Given the description of an element on the screen output the (x, y) to click on. 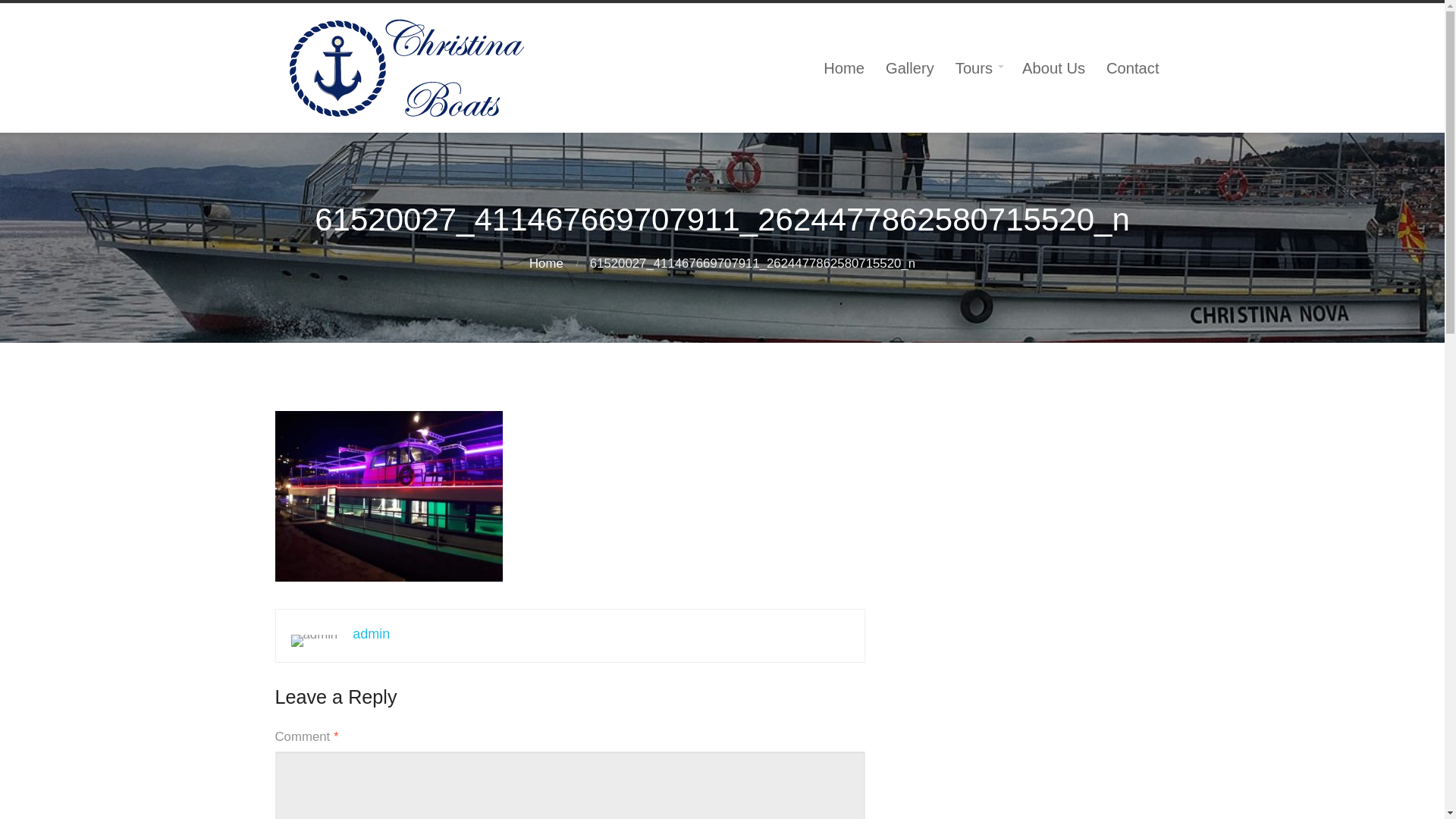
About Us (1053, 67)
admin (371, 633)
Tours (977, 67)
Gallery (909, 67)
Contact (1132, 67)
Home (843, 67)
Home (546, 263)
